Given the description of an element on the screen output the (x, y) to click on. 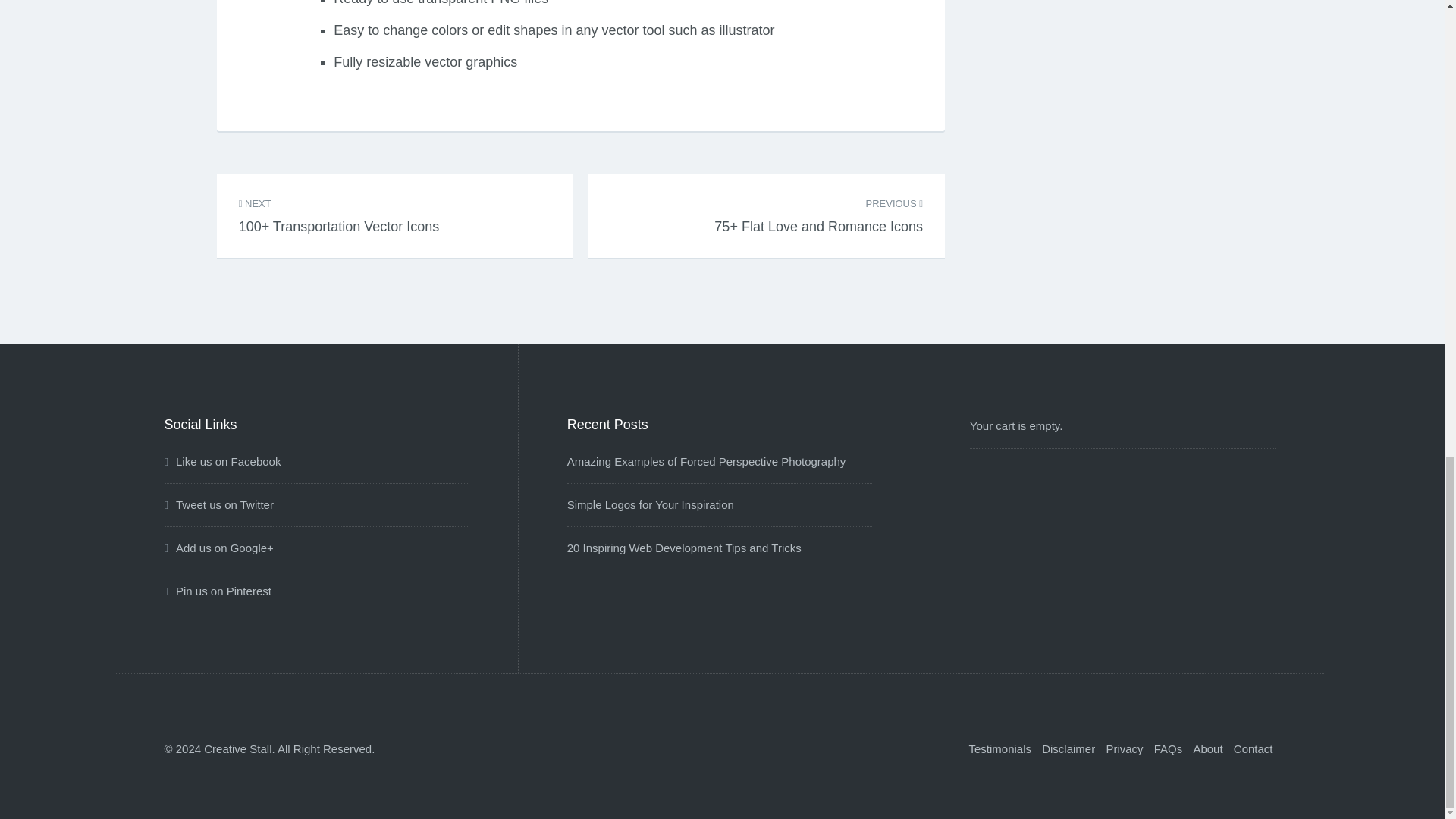
20 Inspiring Web Development Tips and Tricks (684, 547)
Like us on Facebook (222, 461)
Tweet us on Twitter (218, 504)
Amazing Examples of Forced Perspective Photography (706, 461)
Simple Logos for Your Inspiration (650, 504)
Pin us on Pinterest (216, 590)
Testimonials (999, 748)
